Given the description of an element on the screen output the (x, y) to click on. 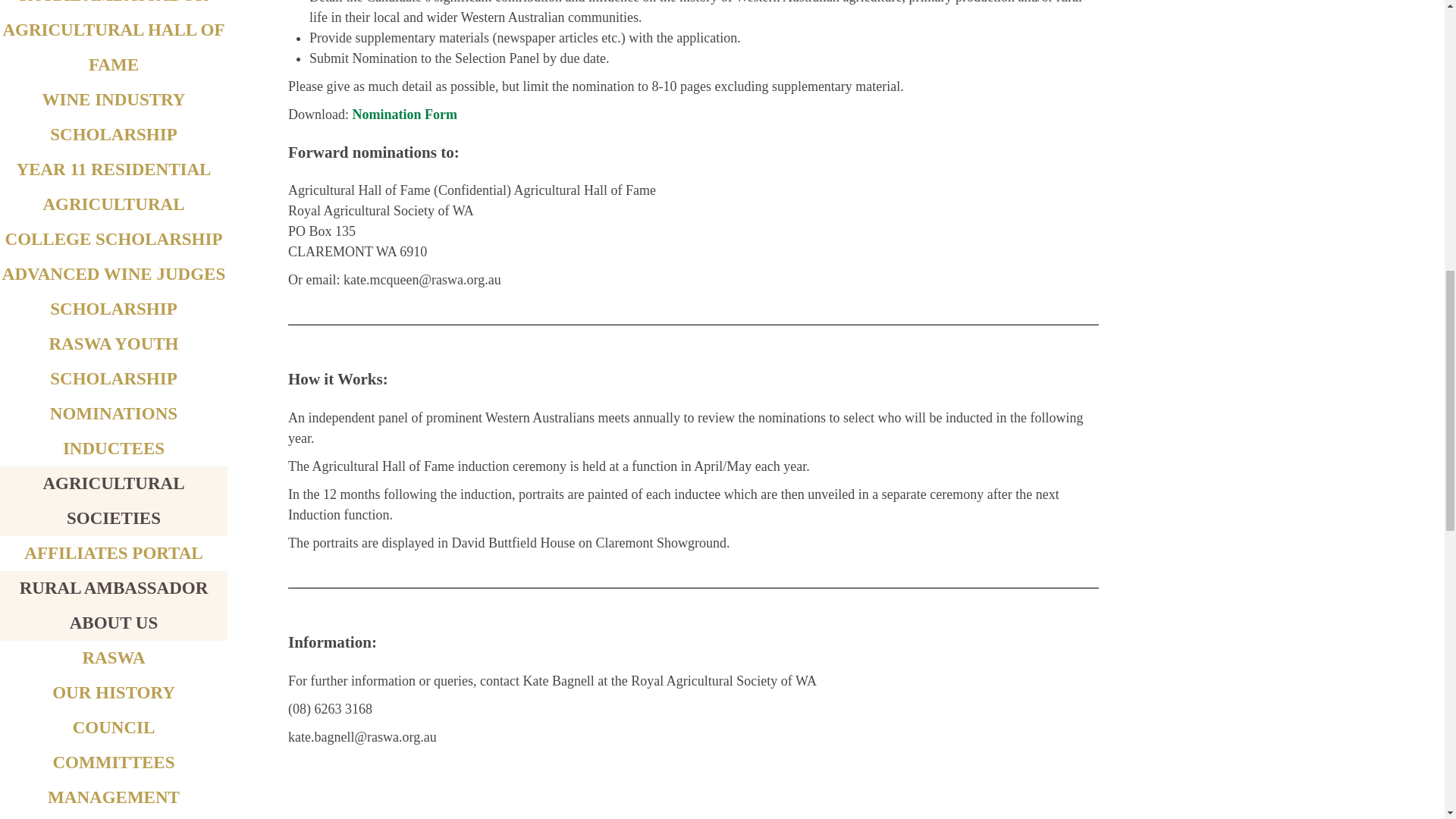
RASWA YOUTH SCHOLARSHIP (112, 361)
OUR HISTORY (113, 692)
COMMITTEES (113, 762)
NOMINATIONS (113, 413)
ABOUT US (113, 622)
AGRICULTURAL SOCIETIES (113, 500)
INDUCTEES (113, 447)
RASWA (112, 657)
WINE INDUSTRY SCHOLARSHIP (114, 117)
ADVANCED WINE JUDGES SCHOLARSHIP (113, 291)
RURAL AMBASSADOR (114, 2)
AFFILIATES PORTAL (113, 552)
AGRICULTURAL HALL OF FAME (113, 47)
RURAL AMBASSADOR (114, 587)
COUNCIL (113, 727)
